Given the description of an element on the screen output the (x, y) to click on. 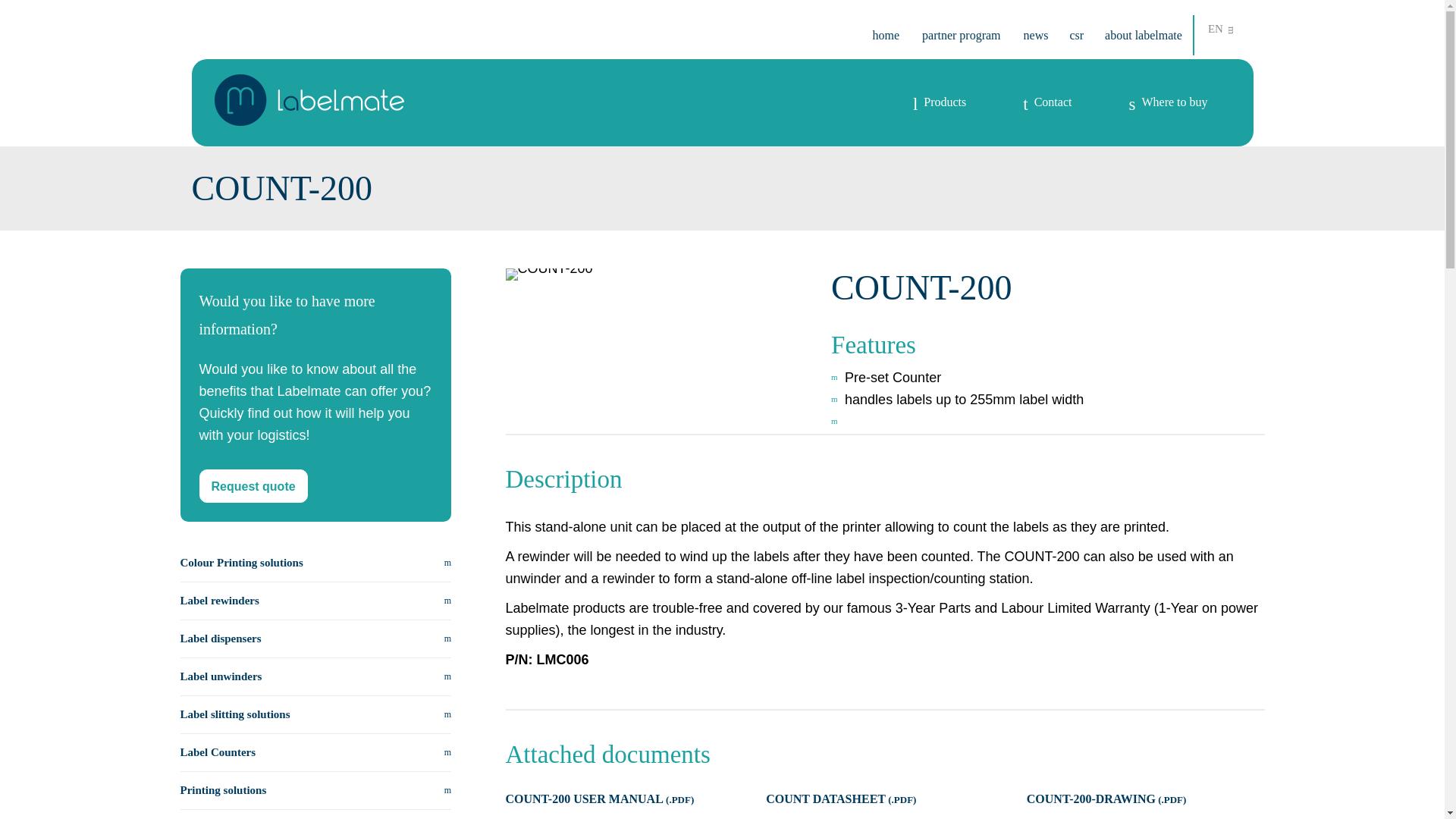
Where to buy (1167, 101)
home (885, 34)
Contact (1047, 101)
Go to News (1035, 34)
Log In (811, 234)
Go to Home (885, 34)
news (1035, 34)
about labelmate (1143, 34)
EN (1221, 29)
csr (1075, 34)
Go to CSR (1075, 34)
Go to About Labelmate (1143, 34)
